Given the description of an element on the screen output the (x, y) to click on. 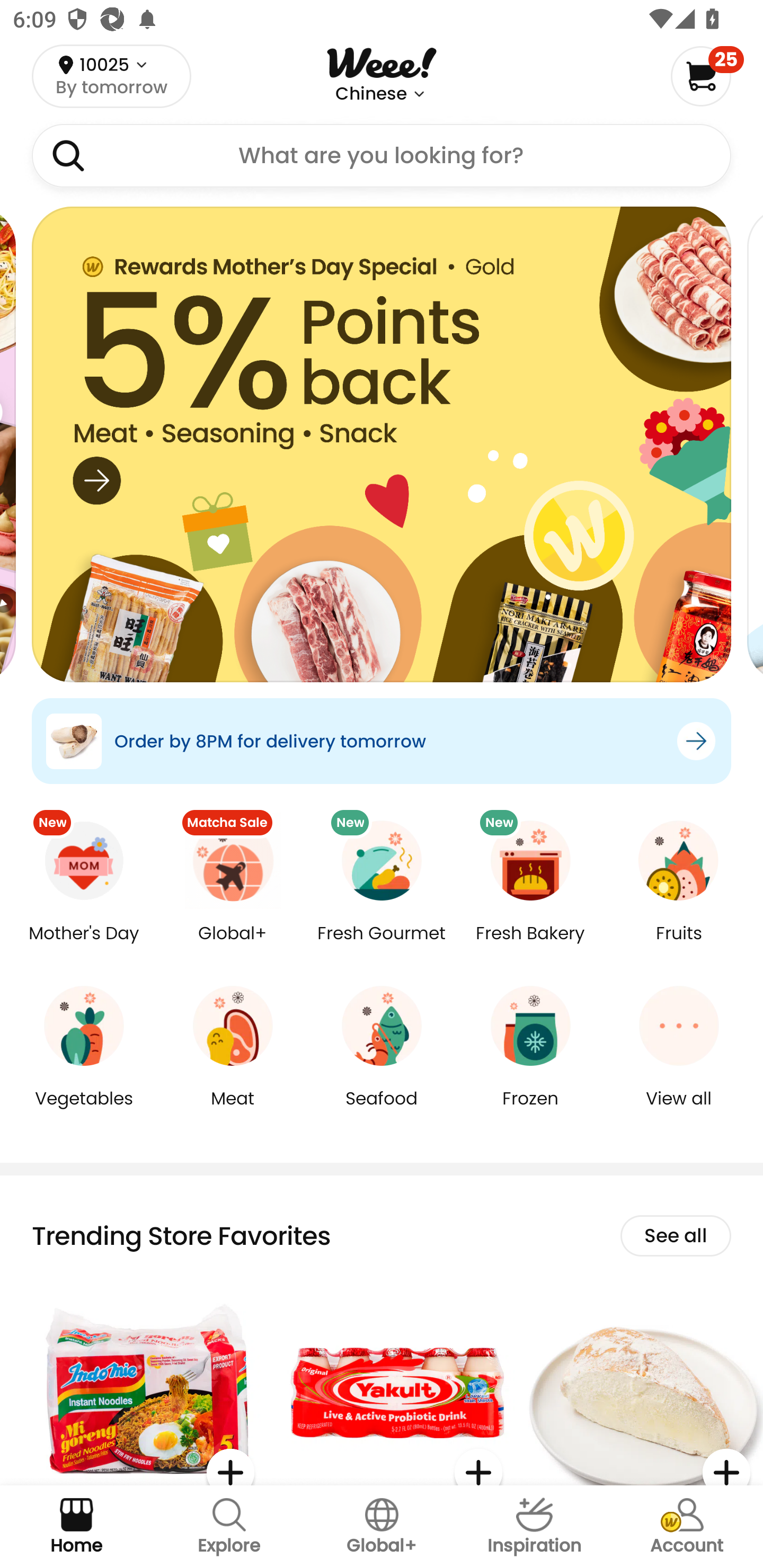
10025 By tomorrow (111, 75)
25 (706, 75)
Chinese (370, 93)
What are you looking for? (381, 155)
Order by 8PM for delivery tomorrow (381, 740)
Mother's Day (83, 946)
Global+ (232, 946)
Fresh Gourmet (381, 946)
Fresh Bakery (530, 946)
Fruits (678, 946)
